Given the description of an element on the screen output the (x, y) to click on. 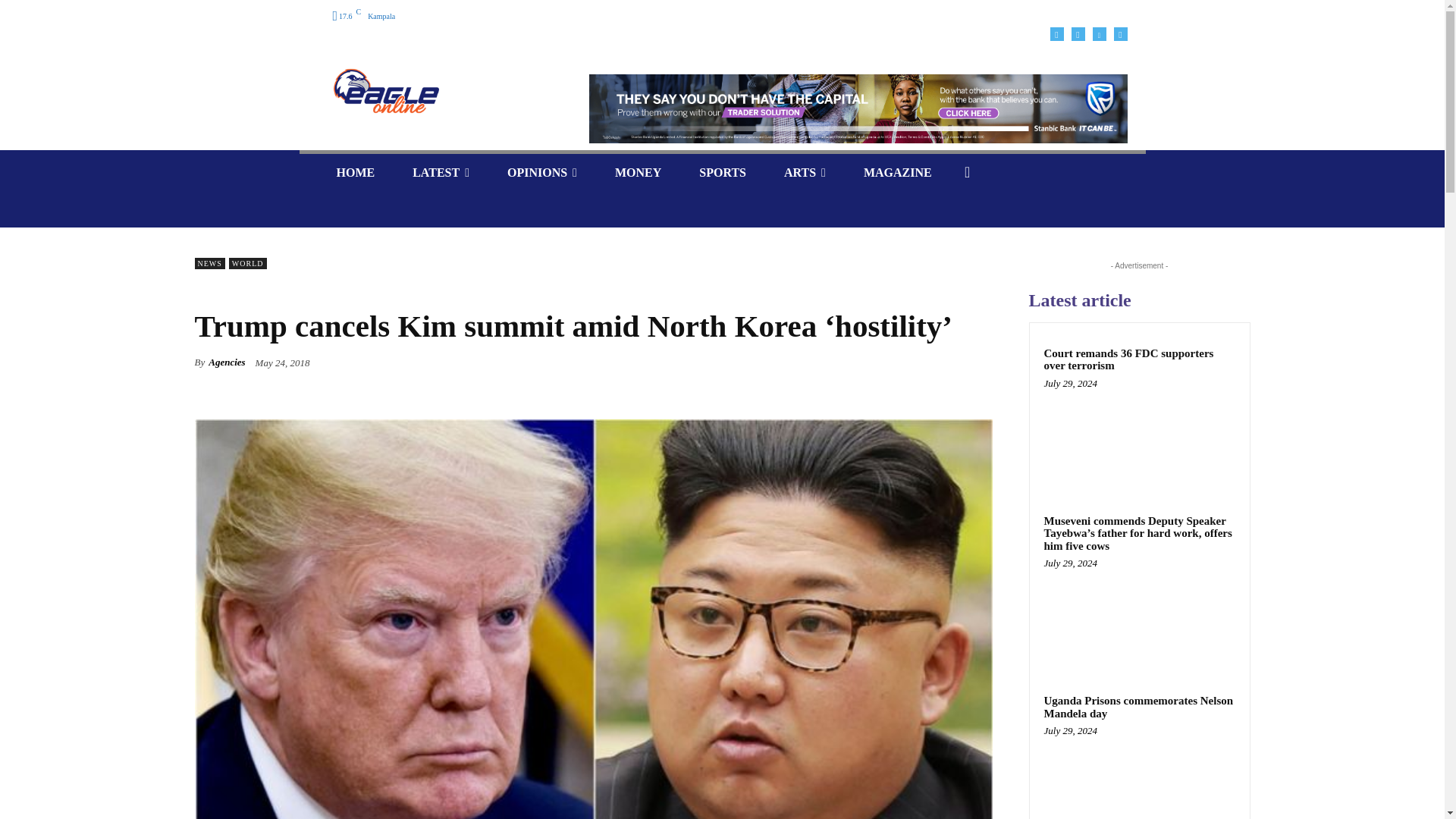
Facebook (1055, 33)
LATEST (440, 171)
HOME (355, 171)
Linkedin (1098, 33)
Twitter (1119, 33)
Instagram (1077, 33)
Eagle Online (385, 90)
MONEY (637, 171)
OPINIONS (541, 171)
Eagle Online (440, 90)
ARTS (804, 171)
SPORTS (722, 171)
